Given the description of an element on the screen output the (x, y) to click on. 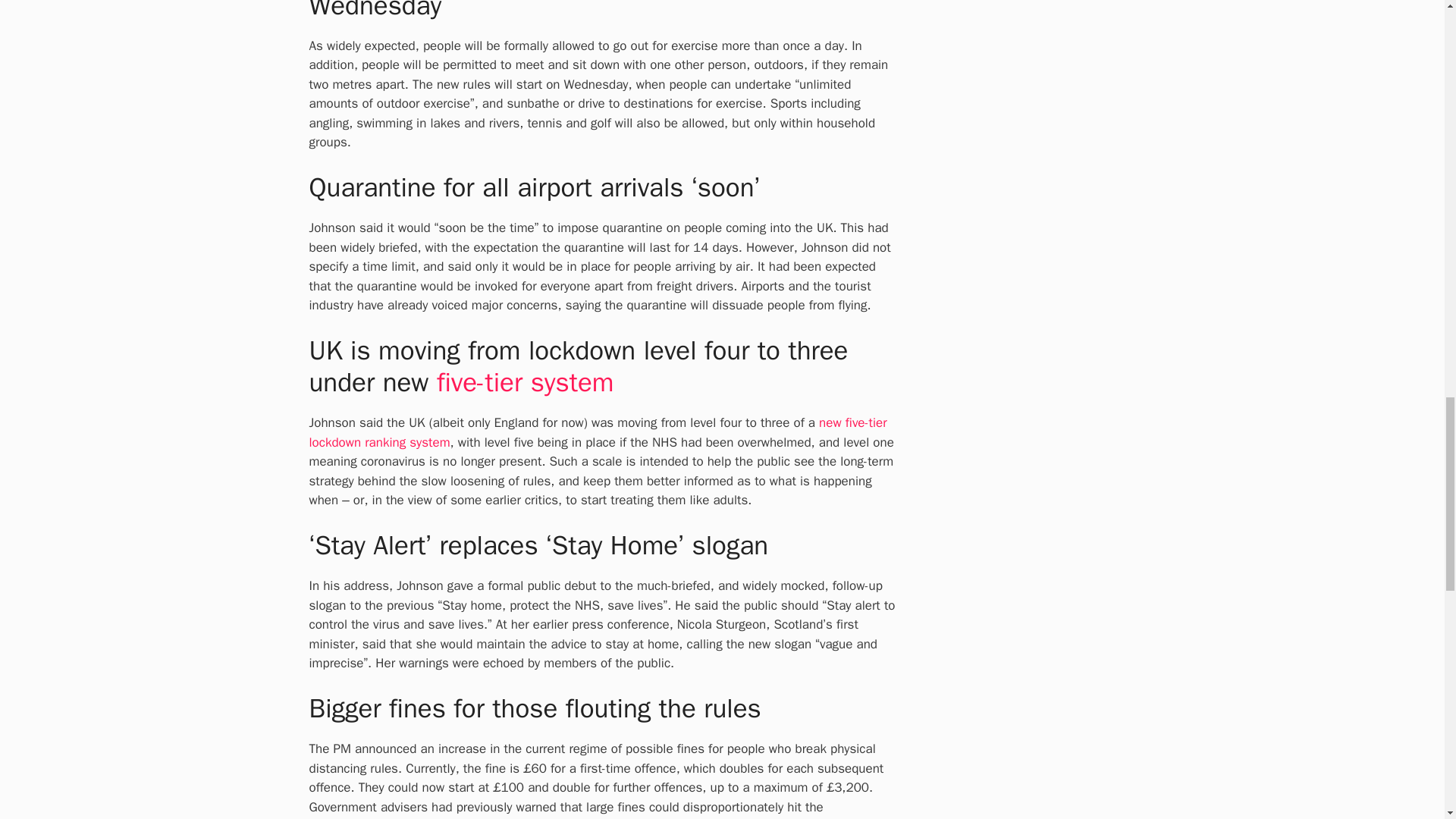
five-tier system (524, 381)
new five-tier lockdown ranking system (597, 432)
